Given the description of an element on the screen output the (x, y) to click on. 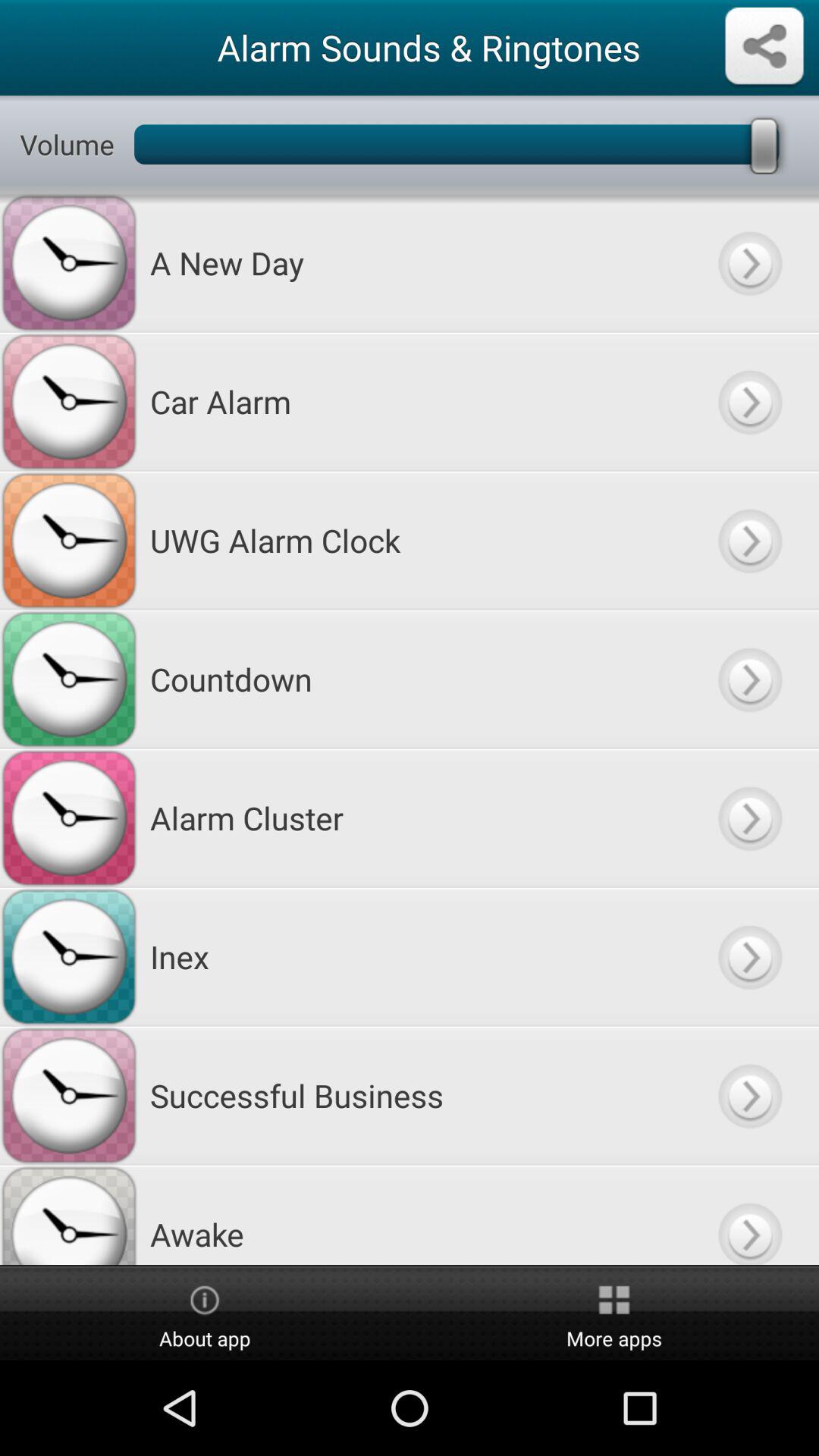
forward (749, 956)
